Given the description of an element on the screen output the (x, y) to click on. 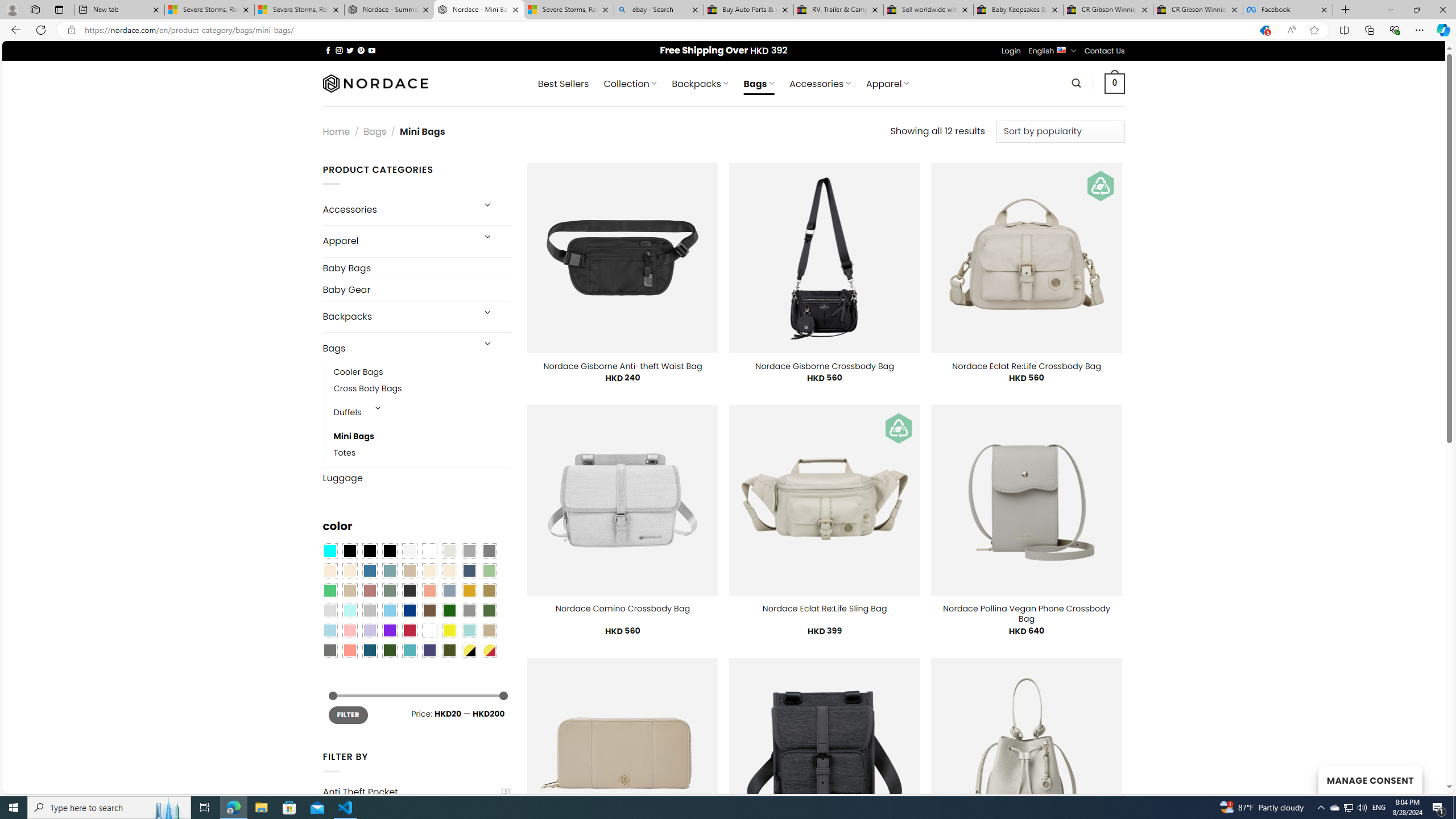
Light Blue (329, 630)
Nordace Comino Crossbody Bag (622, 608)
Anti Theft Pocket(3) (416, 791)
App bar (728, 29)
Gold (468, 590)
Hale Navy (468, 570)
Nordace Gisborne Crossbody Bag (824, 365)
Light Green (488, 570)
Pink (349, 630)
